Given the description of an element on the screen output the (x, y) to click on. 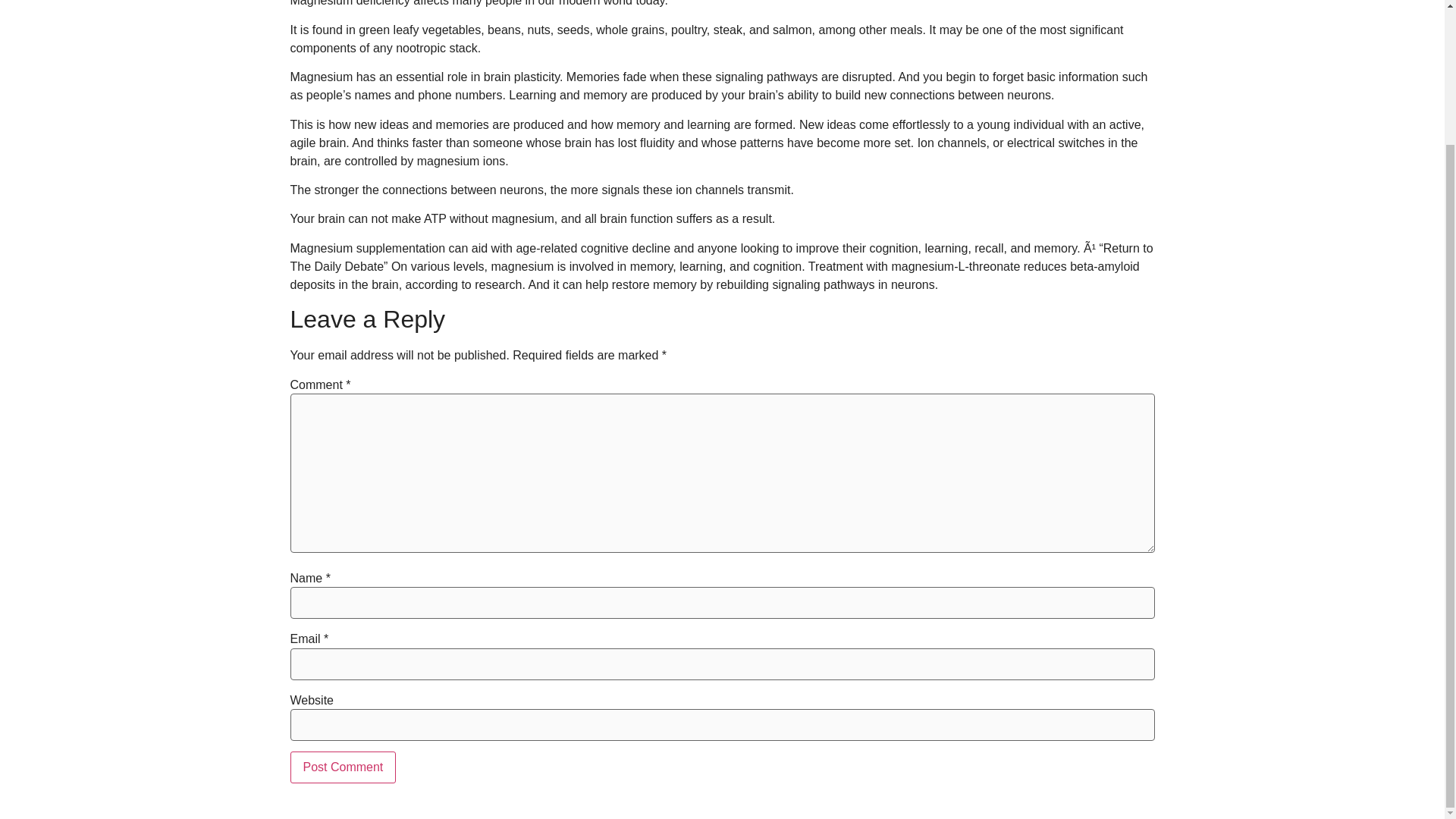
Post Comment (342, 766)
